Given the description of an element on the screen output the (x, y) to click on. 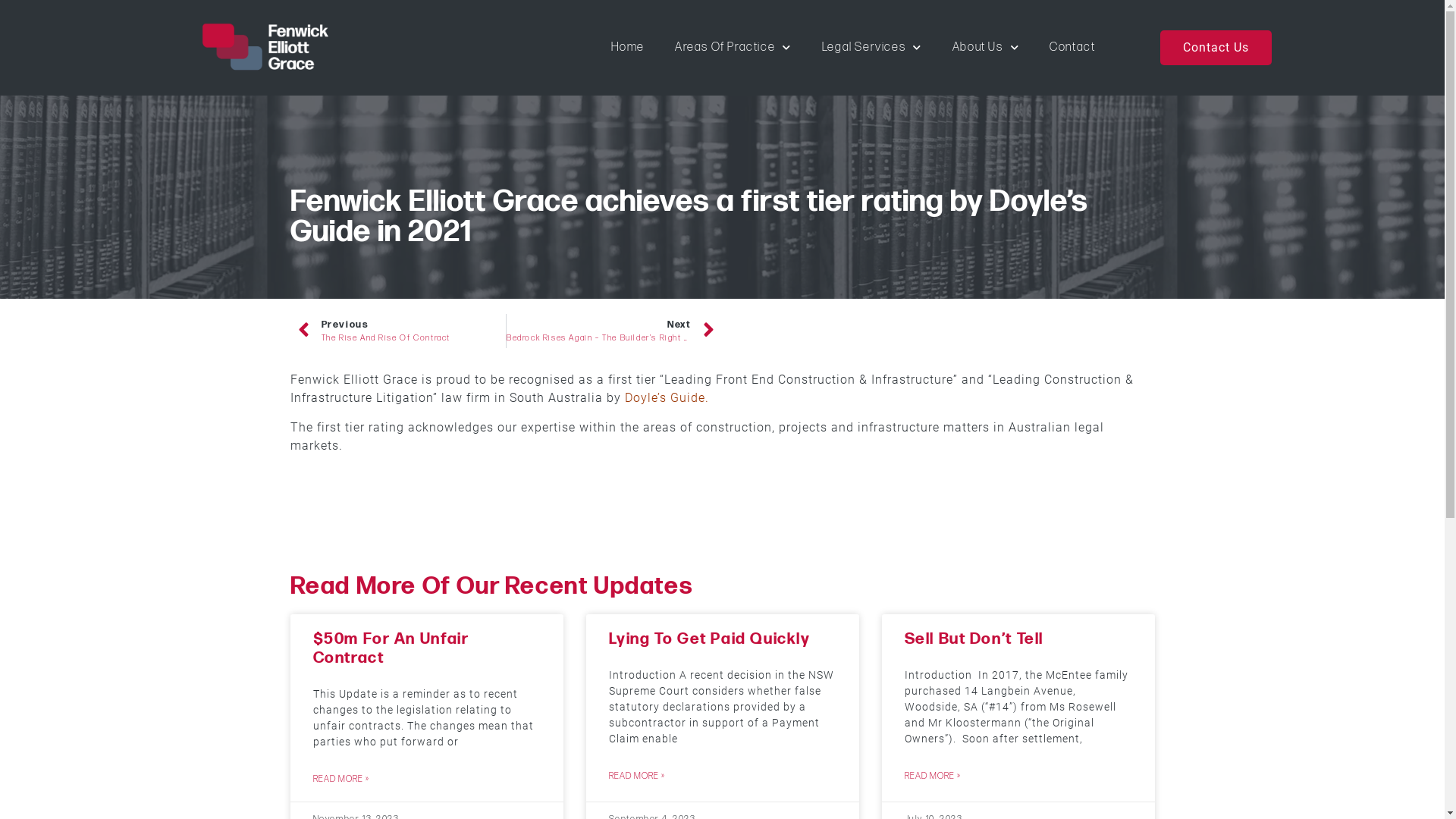
About Us Element type: text (985, 47)
Areas Of Practice Element type: text (732, 47)
Lying To Get Paid Quickly Element type: text (708, 638)
$50m For An Unfair Contract Element type: text (390, 648)
Home Element type: text (627, 47)
Contact Element type: text (1072, 47)
Legal Services Element type: text (871, 47)
Previous
The Rise And Rise Of Contract Element type: text (401, 330)
Contact Us Element type: text (1215, 47)
